Given the description of an element on the screen output the (x, y) to click on. 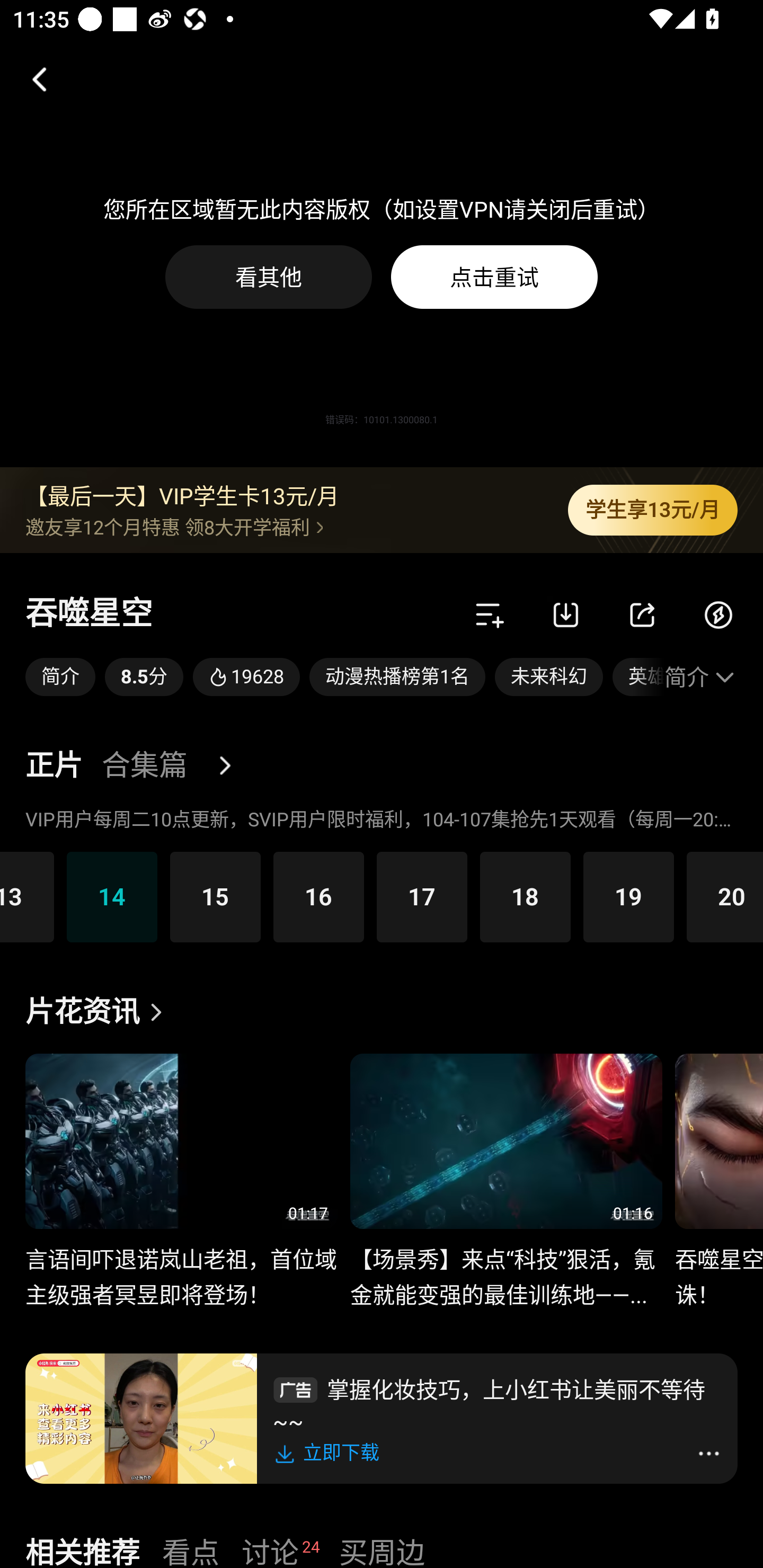
返回，按钮 (31, 78)
看其他 您所在区域暂无此内容版权（如设置VPN请关闭后重试） 看其他按钮 (268, 276)
点击重试 您所在区域暂无此内容版权（如设置VPN请关闭后重试） 点击重试按钮 (493, 276)
学生享13元/月 (652, 510)
邀友享12个月特惠 领8大开学福利 (283, 526)
吞噬星空 (88, 614)
加追,双击可加追,按钮 (489, 614)
下载,链接 (566, 614)
分享,链接 (642, 614)
发电,链接 (718, 614)
简介 简介,链接 (60, 677)
8.5分 8.5分,链接 (144, 677)
19628 热度值 19628,链接 (246, 677)
动漫热播榜第1名 动漫热播榜第1名,链接 (397, 677)
未来科幻 未来科幻,链接 (548, 677)
英雄成长 英雄成长,链接 (638, 677)
简介 (700, 677)
正片 (53, 765)
合集篇 (144, 765)
更多,链接 (231, 765)
第13集 13 (27, 896)
第14集 14 (112, 896)
第15集 15 (215, 896)
第16集 16 (318, 896)
第17集 17 (421, 896)
第18集 18 (524, 896)
第19集 19 (628, 896)
第20集 20 (724, 896)
片花资讯 链接 (98, 1011)
言语间吓退诺岚山老祖，首位域主级强者冥昱即将登场！ (181, 1267)
【场景秀】来点“科技”狠活，氪金就能变强的最佳训练地——... (506, 1267)
imgimg掌握化妆技巧，上小红书让美丽不等待~~ (497, 1403)
立即下载 (330, 1452)
相关推荐 (82, 1549)
看点 (190, 1549)
讨论 (270, 1549)
买周边 (381, 1549)
